Given the description of an element on the screen output the (x, y) to click on. 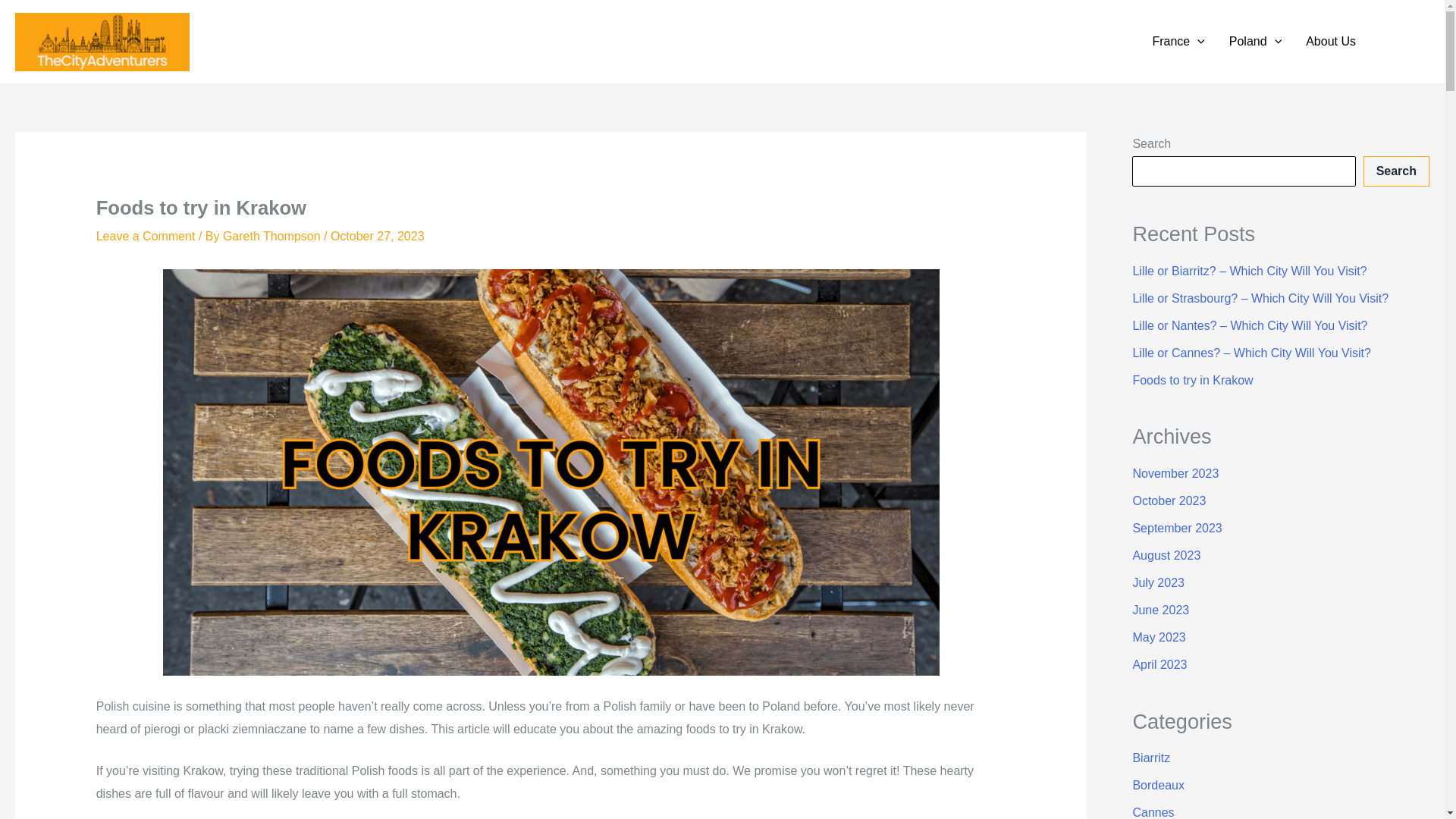
Poland (1255, 41)
Leave a Comment (145, 236)
About Us (1331, 41)
France (1177, 41)
Gareth Thompson (272, 236)
View all posts by Gareth Thompson (272, 236)
